Given the description of an element on the screen output the (x, y) to click on. 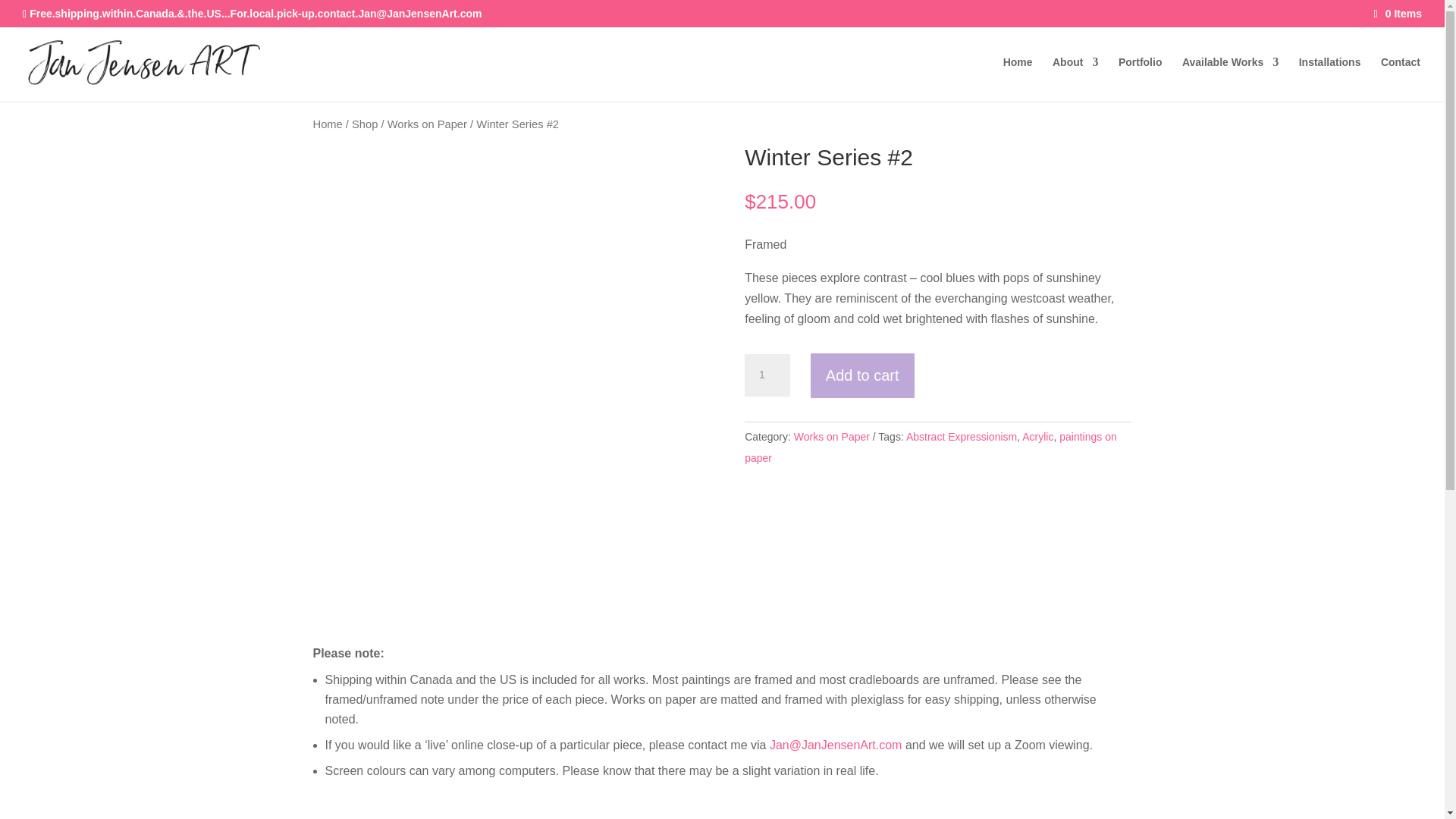
Add to cart (862, 375)
Portfolio (1139, 78)
Works on Paper (427, 123)
Works on Paper (831, 436)
Home (327, 123)
Acrylic (1037, 436)
1 (767, 374)
0 Items (1398, 13)
Available Works (1230, 78)
Abstract Expressionism (960, 436)
Shop (364, 123)
paintings on paper (930, 446)
About (1074, 78)
Installations (1329, 78)
